Given the description of an element on the screen output the (x, y) to click on. 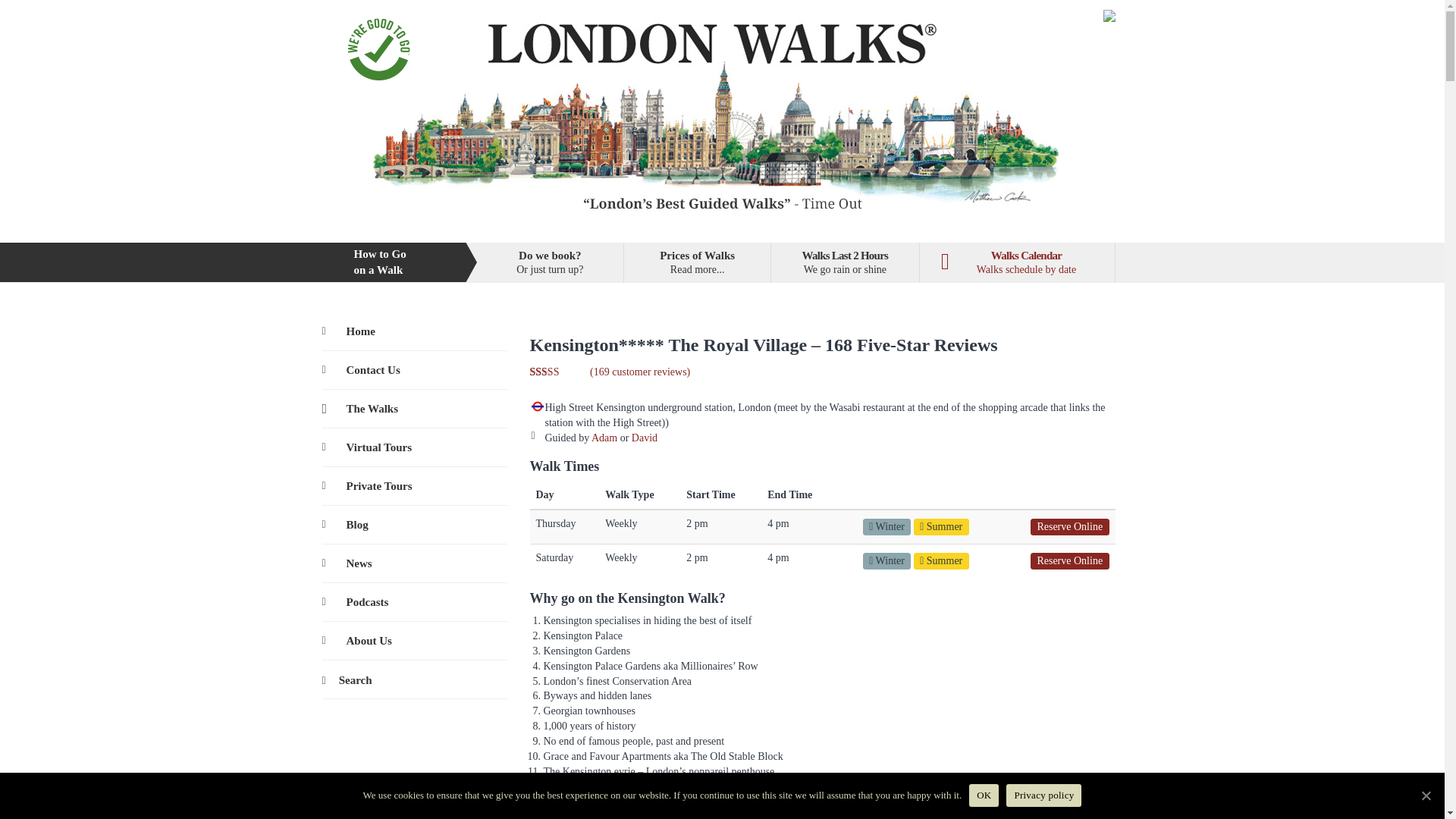
The Walks (413, 408)
Blog (844, 262)
Virtual Tours (697, 262)
News (550, 262)
Contact Us (413, 524)
Private Tours (413, 447)
About Us (1016, 262)
Podcasts (413, 563)
Home (413, 370)
Search (413, 485)
